Given the description of an element on the screen output the (x, y) to click on. 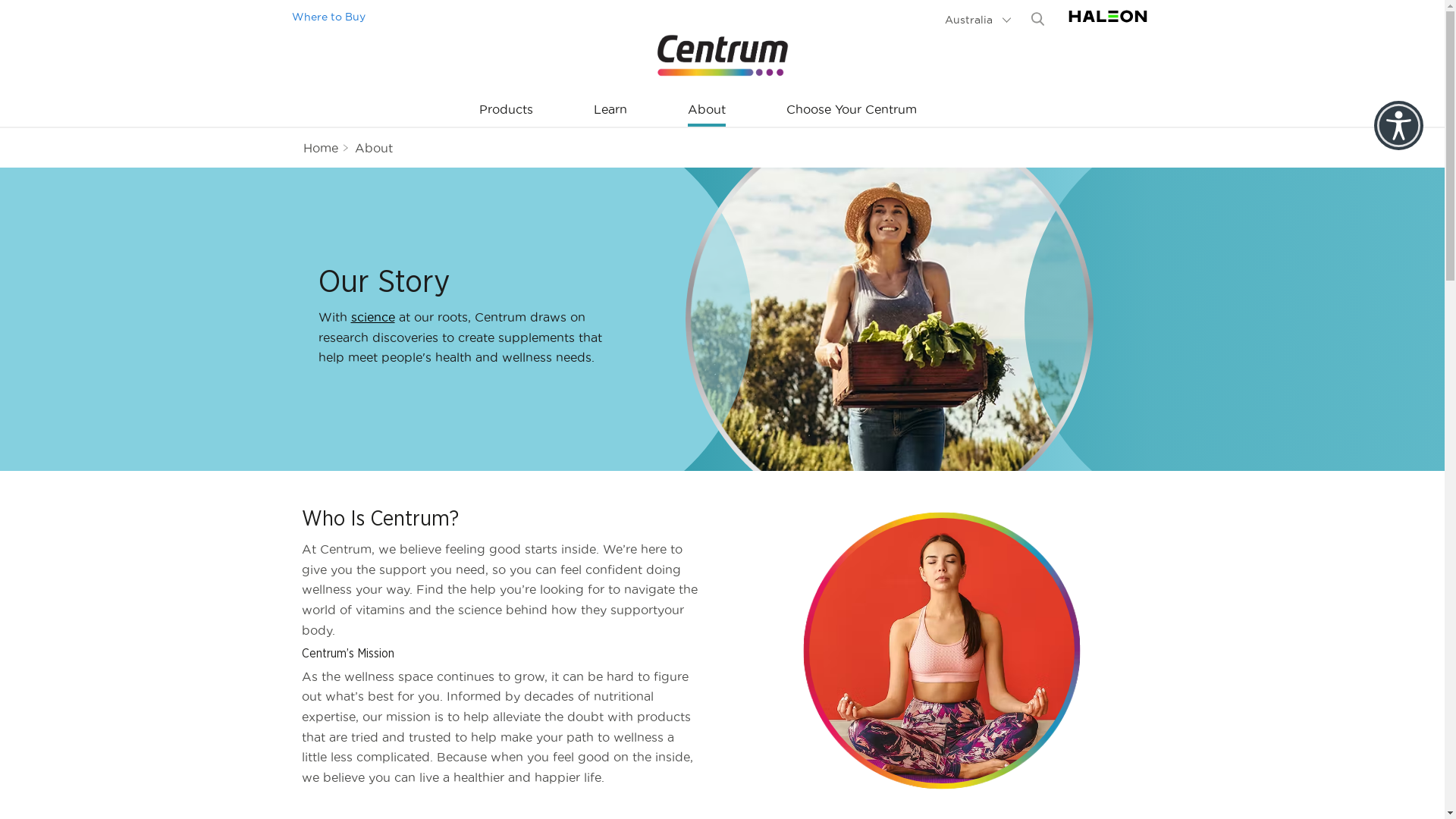
Logo Title Text Element type: hover (721, 53)
Haleon Element type: hover (1107, 24)
Home Element type: text (320, 147)
Choose Your Centrum Element type: text (851, 109)
Woman holding basket of green produce on blue background  Element type: hover (887, 319)
About Element type: text (706, 109)
Learn Element type: text (609, 109)
Where to Buy Element type: text (328, 16)
About Element type: text (373, 147)
science Element type: text (372, 316)
Products Element type: text (505, 109)
Woman sitting in a meditative yoga pose Element type: hover (941, 650)
Submit Element type: text (1037, 18)
